Given the description of an element on the screen output the (x, y) to click on. 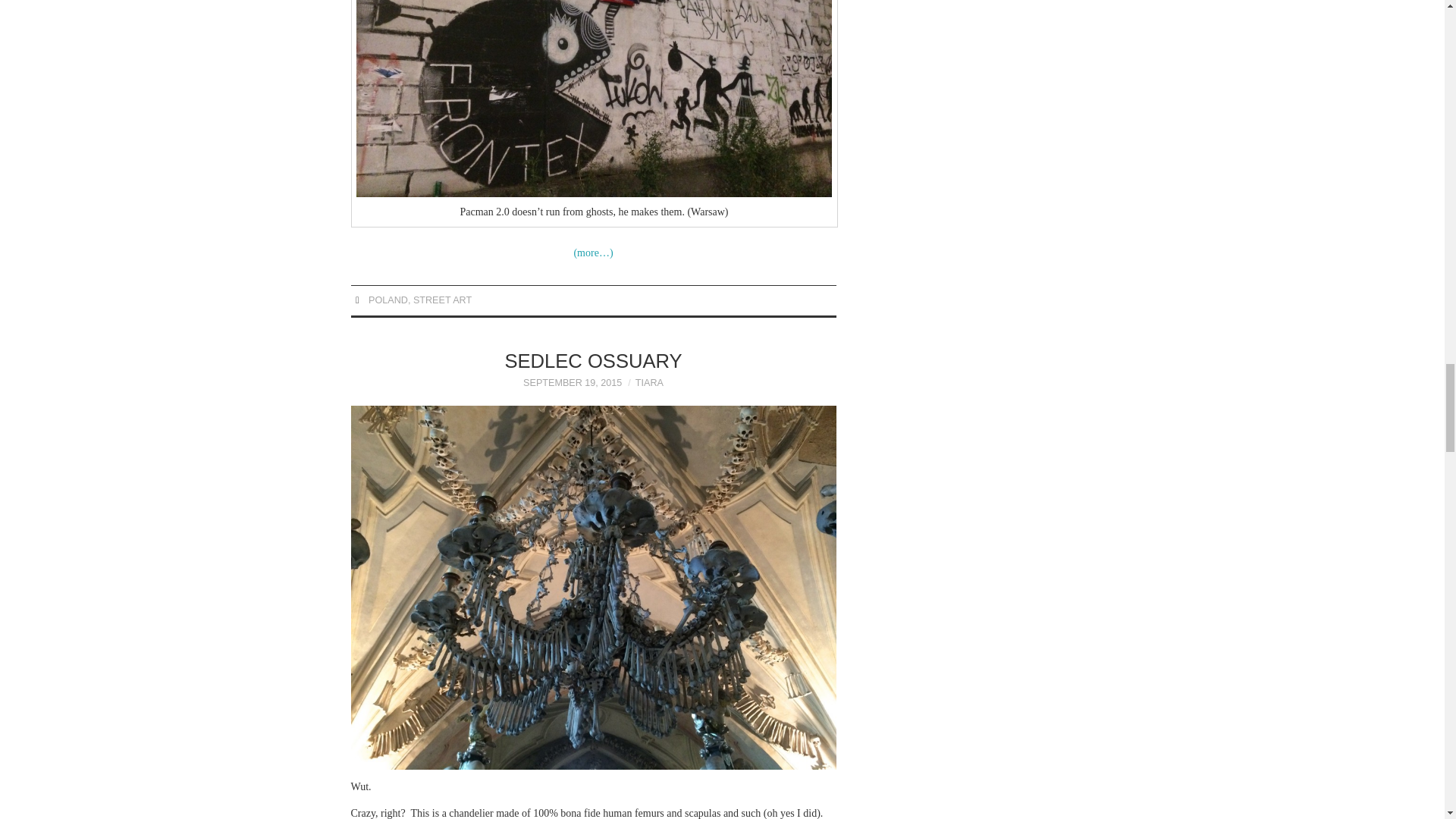
STREET ART (442, 299)
POLAND (387, 299)
